Given the description of an element on the screen output the (x, y) to click on. 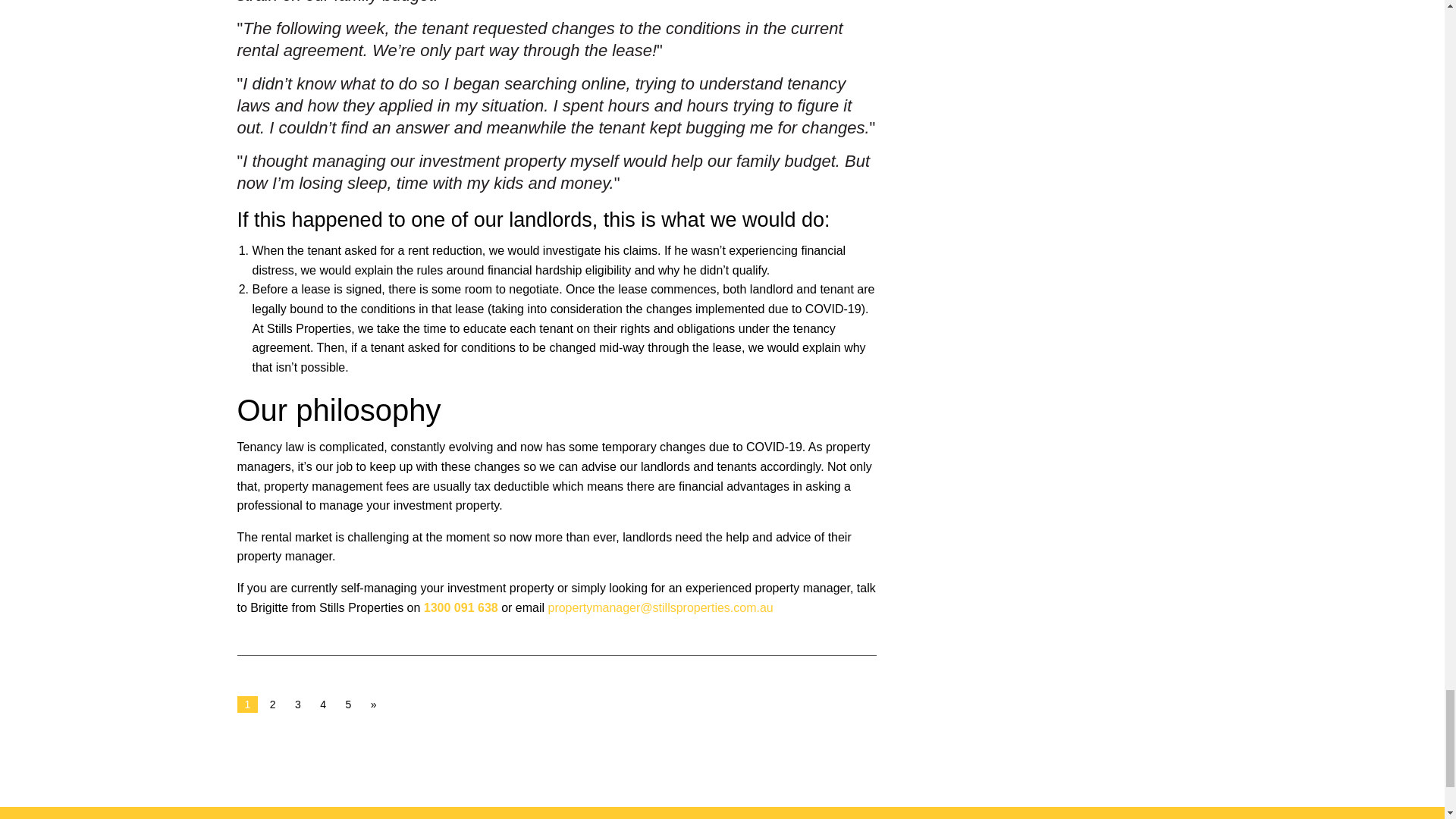
2 (272, 703)
4 (323, 703)
1300 091 638 (460, 607)
3 (297, 703)
5 (348, 703)
